Given the description of an element on the screen output the (x, y) to click on. 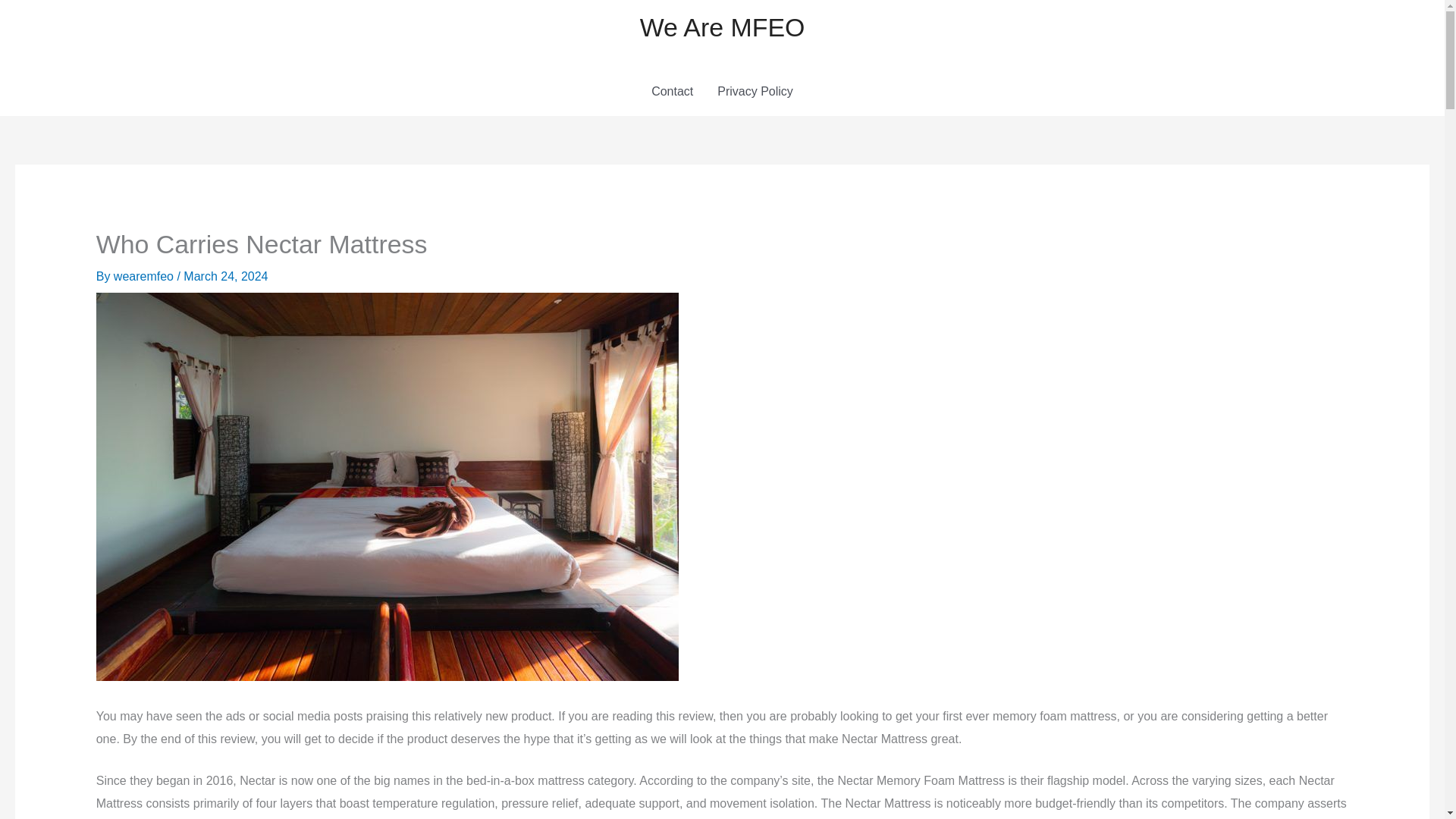
We Are MFEO (722, 27)
wearemfeo (145, 276)
Privacy Policy (754, 91)
View all posts by wearemfeo (145, 276)
Contact (671, 91)
